Given the description of an element on the screen output the (x, y) to click on. 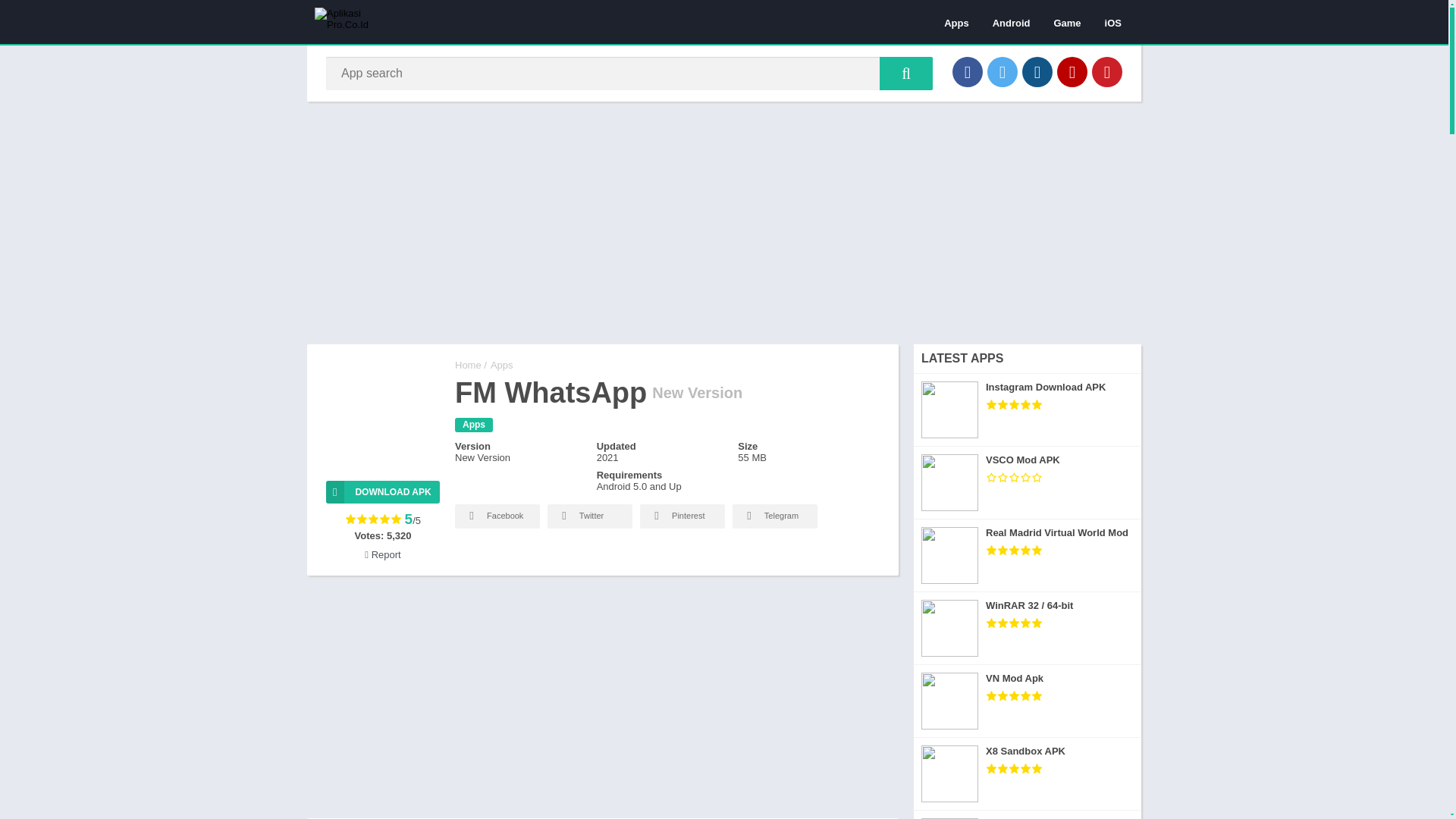
Twitter (589, 516)
YouTube (1072, 71)
Aplikasi Pro.Co.Id (467, 365)
Pinterest (1107, 71)
VSCO Mod APK (1027, 482)
Android (1011, 22)
Real Madrid Virtual World Mod (1027, 555)
Game (1067, 22)
Home (467, 365)
Facebook (967, 71)
Twitter (1002, 71)
Pinterest (682, 516)
Facebook (497, 516)
VN Mod Apk (1027, 701)
